Given the description of an element on the screen output the (x, y) to click on. 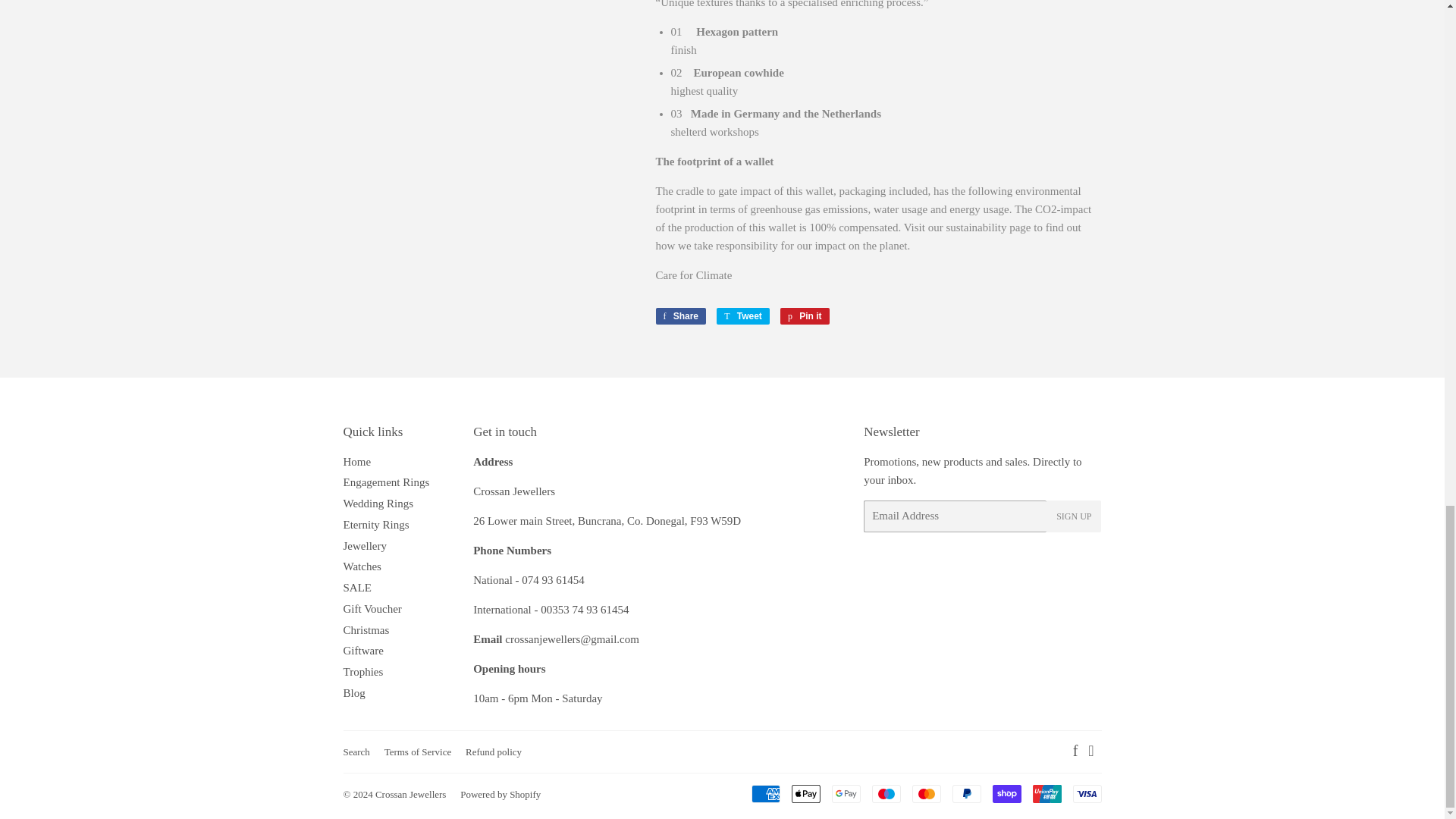
Apple Pay (806, 793)
Pin on Pinterest (804, 315)
Google Pay (845, 793)
PayPal (966, 793)
Share on Facebook (680, 315)
Shop Pay (1005, 793)
Tweet on Twitter (743, 315)
Union Pay (1046, 793)
American Express (764, 793)
Maestro (886, 793)
